Given the description of an element on the screen output the (x, y) to click on. 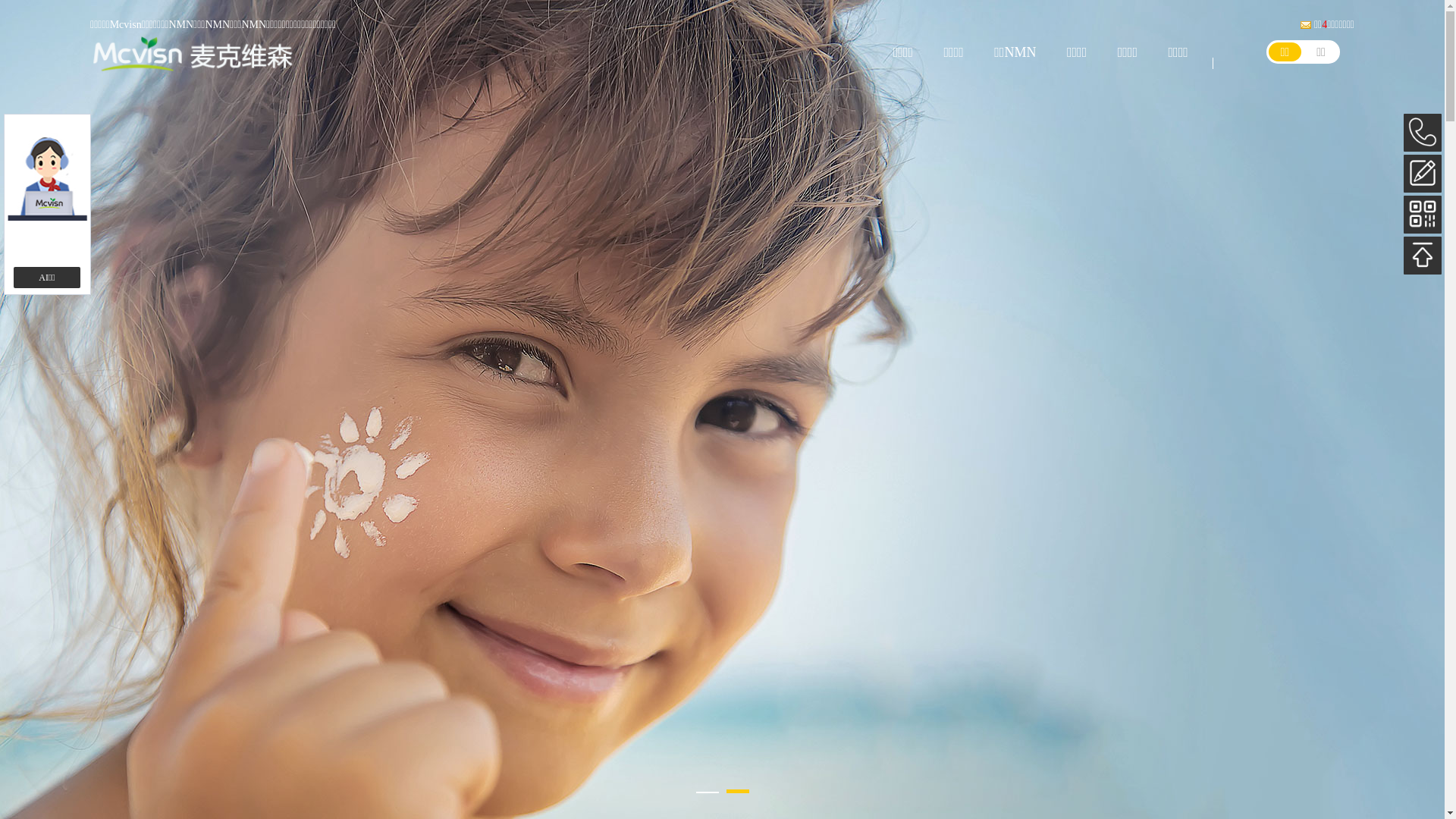
NMN Element type: text (180, 24)
